Given the description of an element on the screen output the (x, y) to click on. 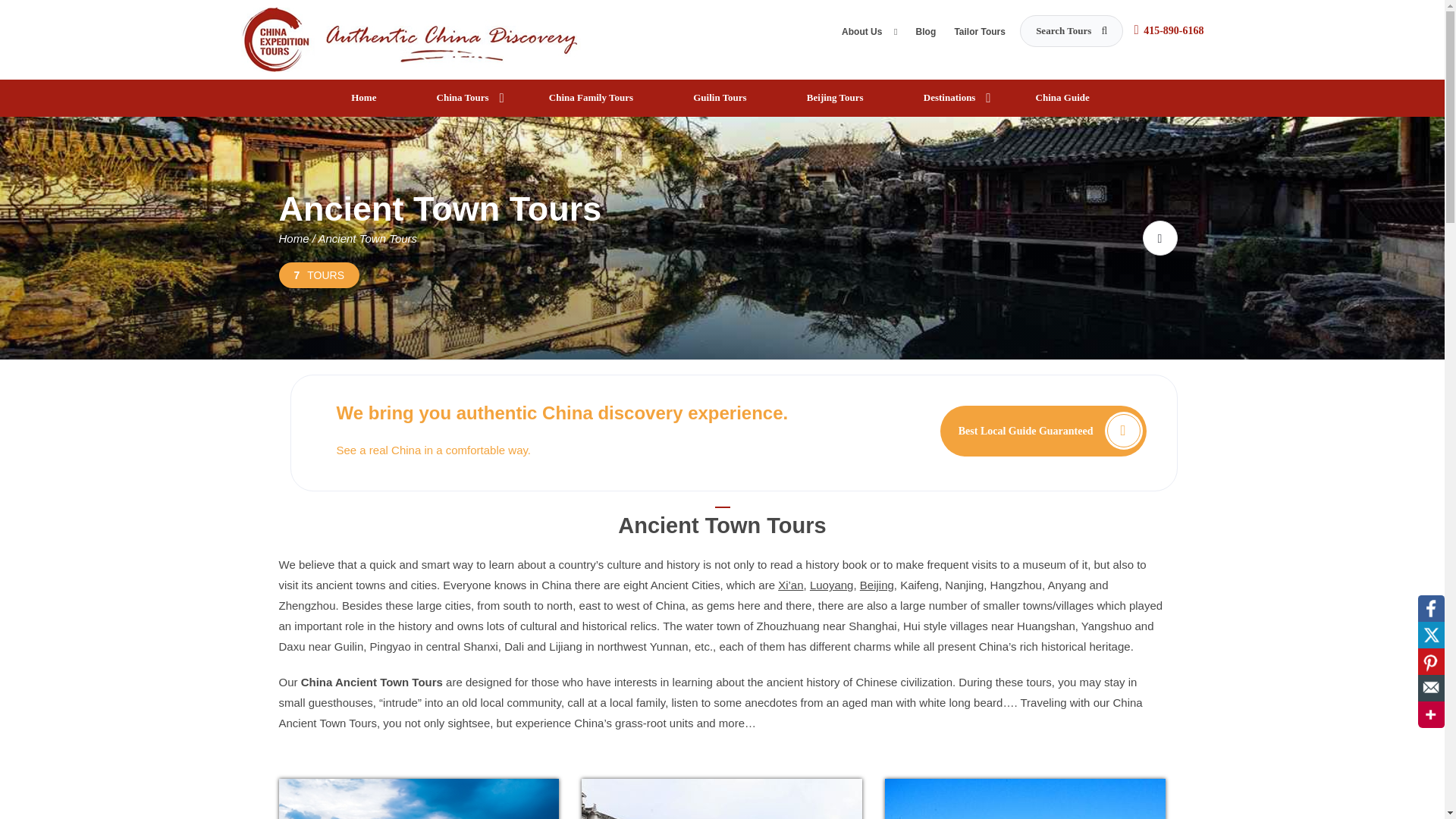
China Tours (410, 38)
Search Tours (1071, 30)
Best Local Guide Guaranteed (1043, 430)
Home (365, 98)
415-890-6168 (1173, 30)
Tailor Tours (979, 34)
Blog (925, 34)
About Us (868, 34)
China Tours (465, 98)
